Given the description of an element on the screen output the (x, y) to click on. 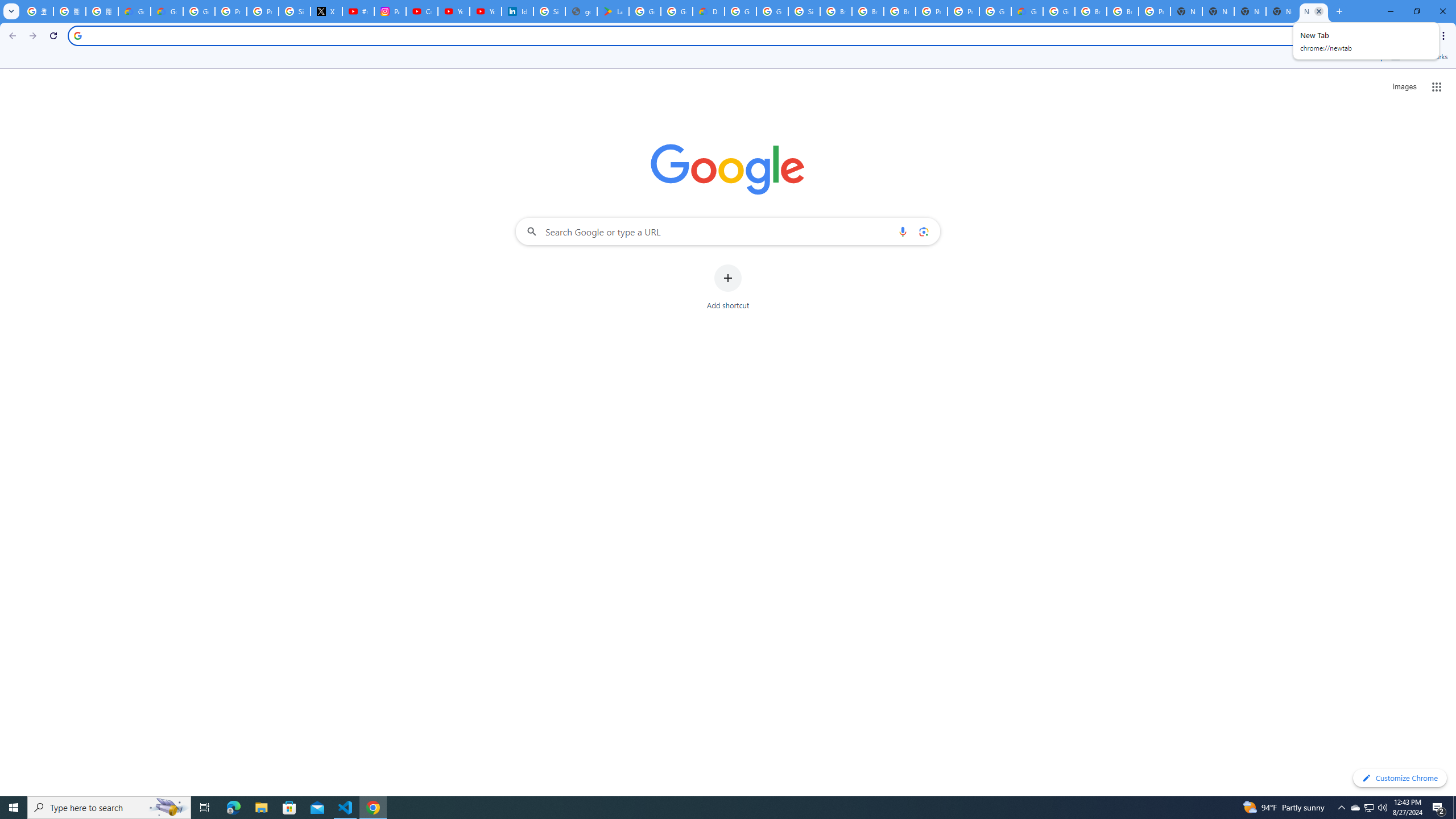
Browse Chrome as a guest - Computer - Google Chrome Help (836, 11)
Browse Chrome as a guest - Computer - Google Chrome Help (868, 11)
